Given the description of an element on the screen output the (x, y) to click on. 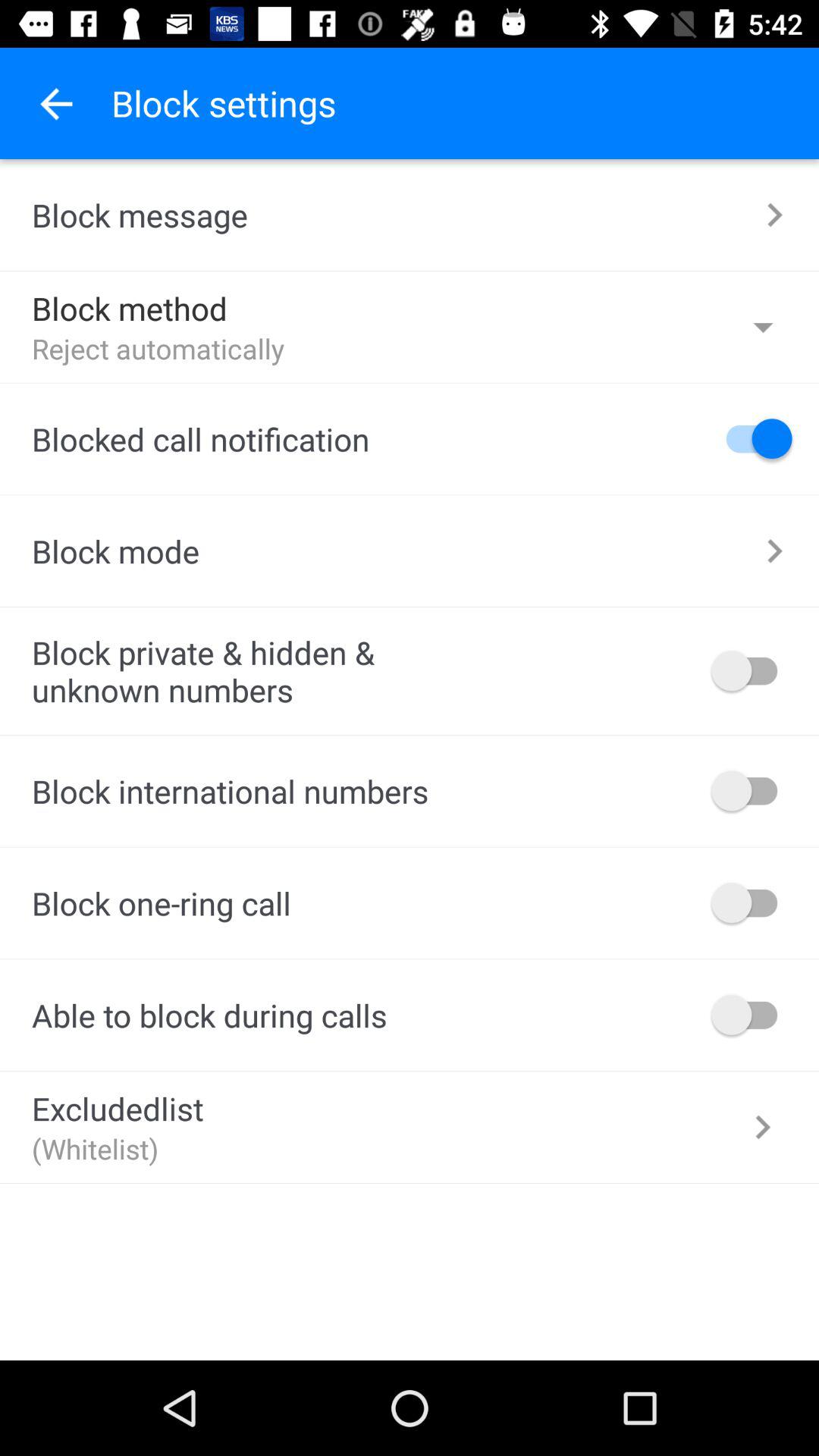
block one-ring call toggle (751, 902)
